Given the description of an element on the screen output the (x, y) to click on. 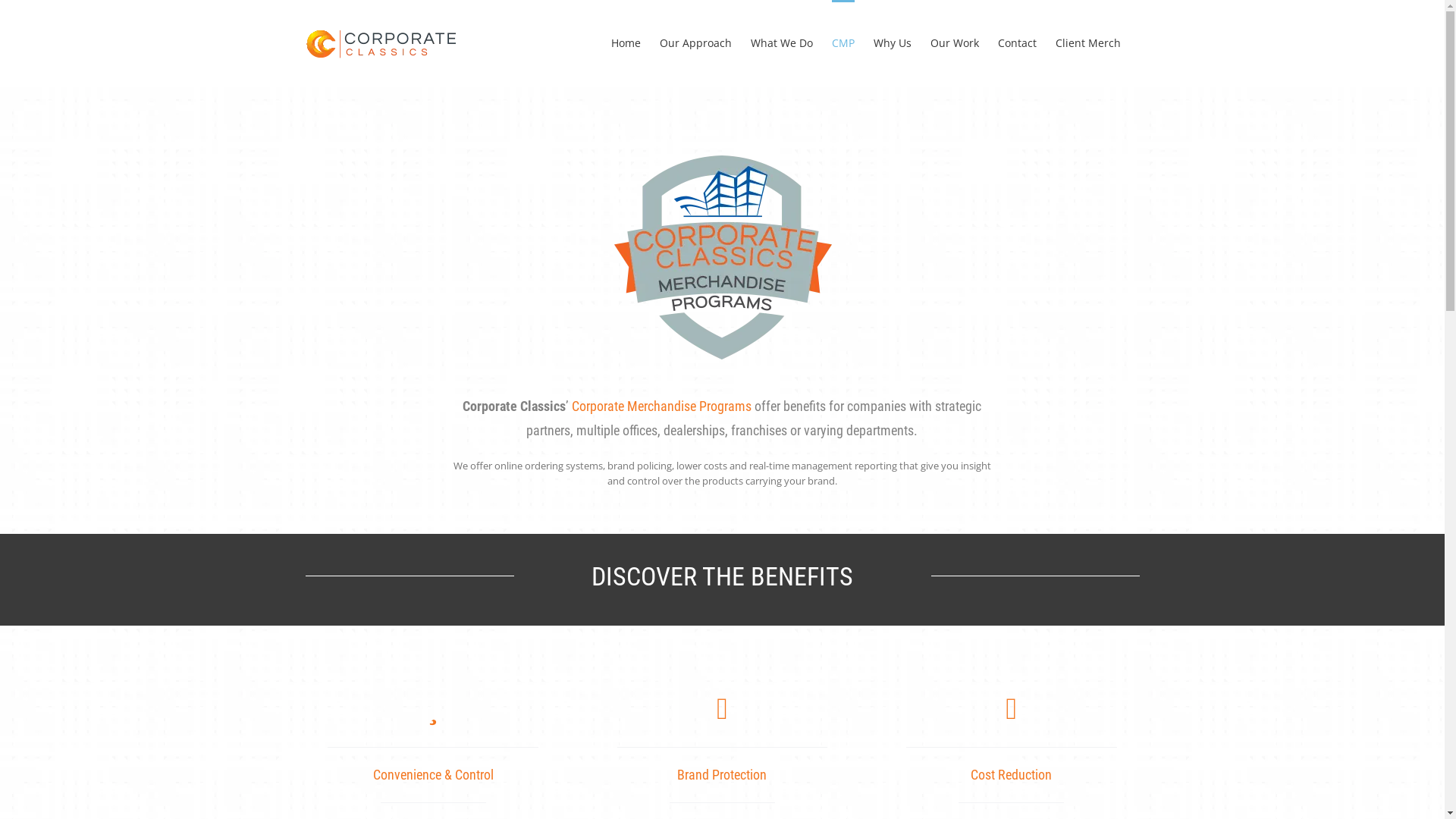
Home Element type: text (625, 41)
cmp-logo-300px Element type: hover (721, 257)
Our Work Element type: text (953, 41)
Our Approach Element type: text (695, 41)
CMP Element type: text (842, 41)
What We Do Element type: text (781, 41)
Client Merch Element type: text (1087, 41)
Why Us Element type: text (892, 41)
Contact Element type: text (1016, 41)
